Given the description of an element on the screen output the (x, y) to click on. 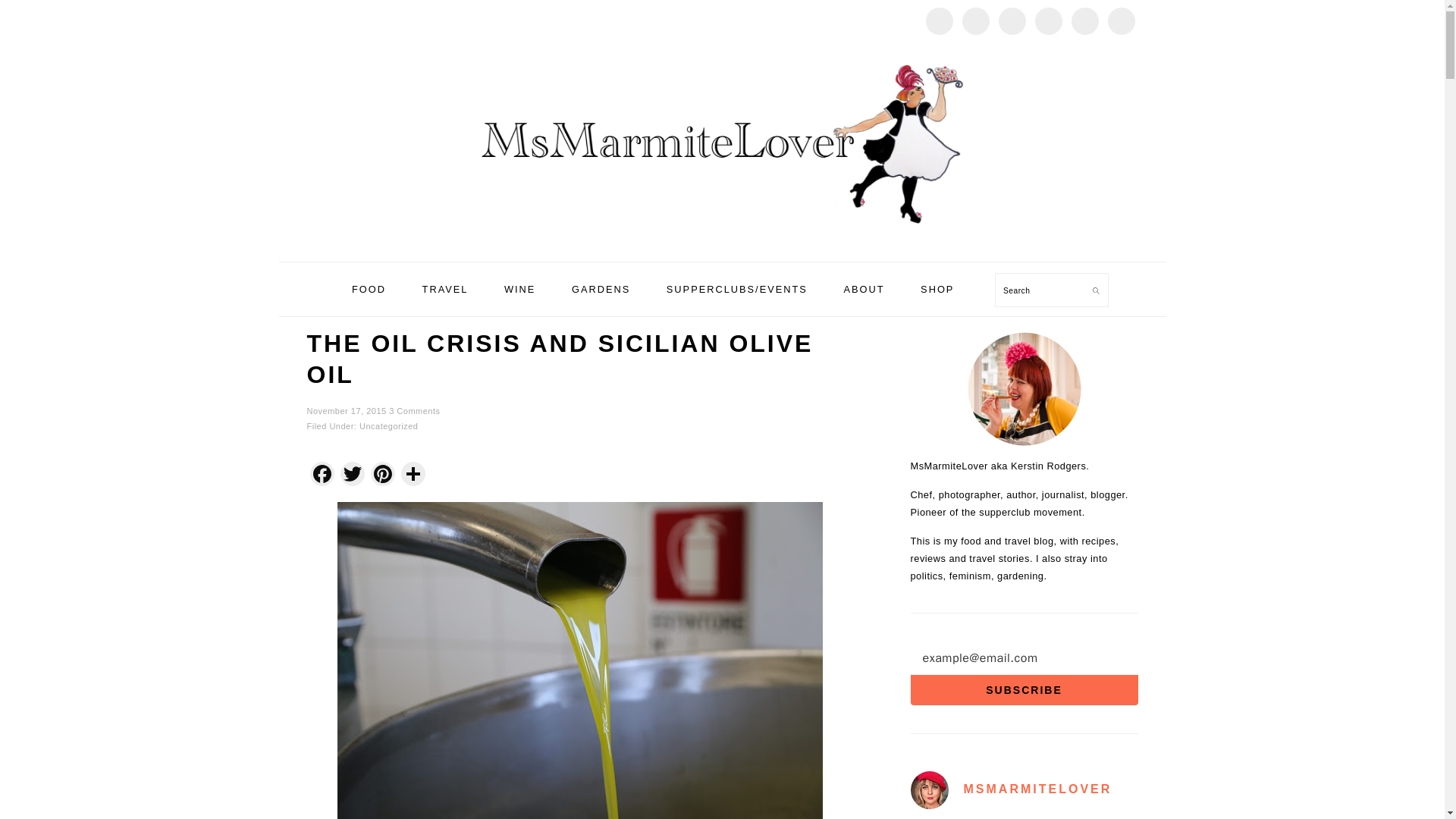
Twitter (351, 475)
ABOUT (863, 289)
TRAVEL (445, 289)
MsMarmiteLover (721, 244)
Pinterest (381, 475)
Pinterest (381, 475)
Share (412, 475)
MsMarmiteLover (721, 145)
Twitter (351, 475)
WINE (519, 289)
3 Comments (413, 410)
Facebook (320, 475)
Uncategorized (388, 425)
